Given the description of an element on the screen output the (x, y) to click on. 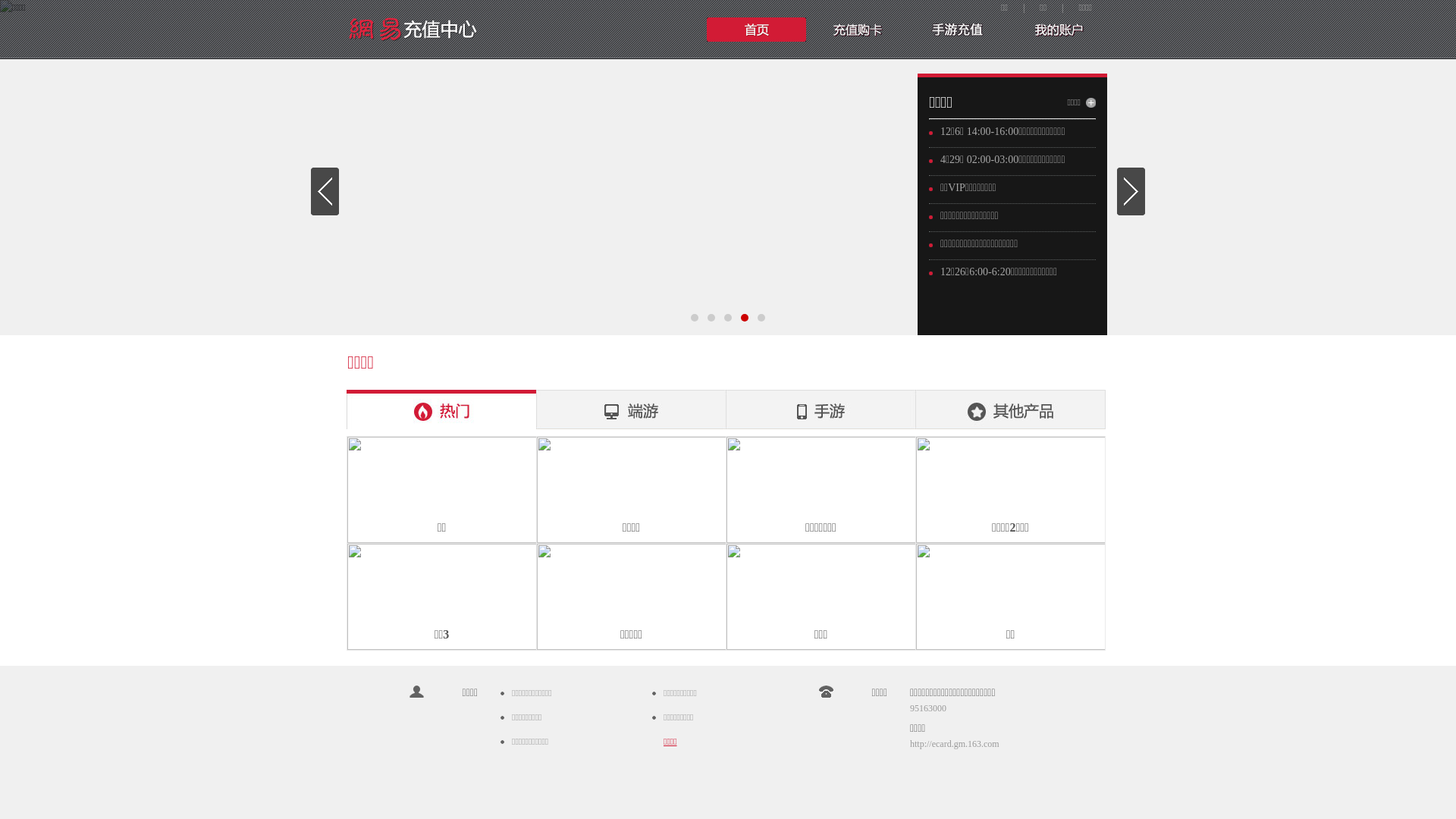
http://ecard.gm.163.com Element type: text (954, 743)
